Given the description of an element on the screen output the (x, y) to click on. 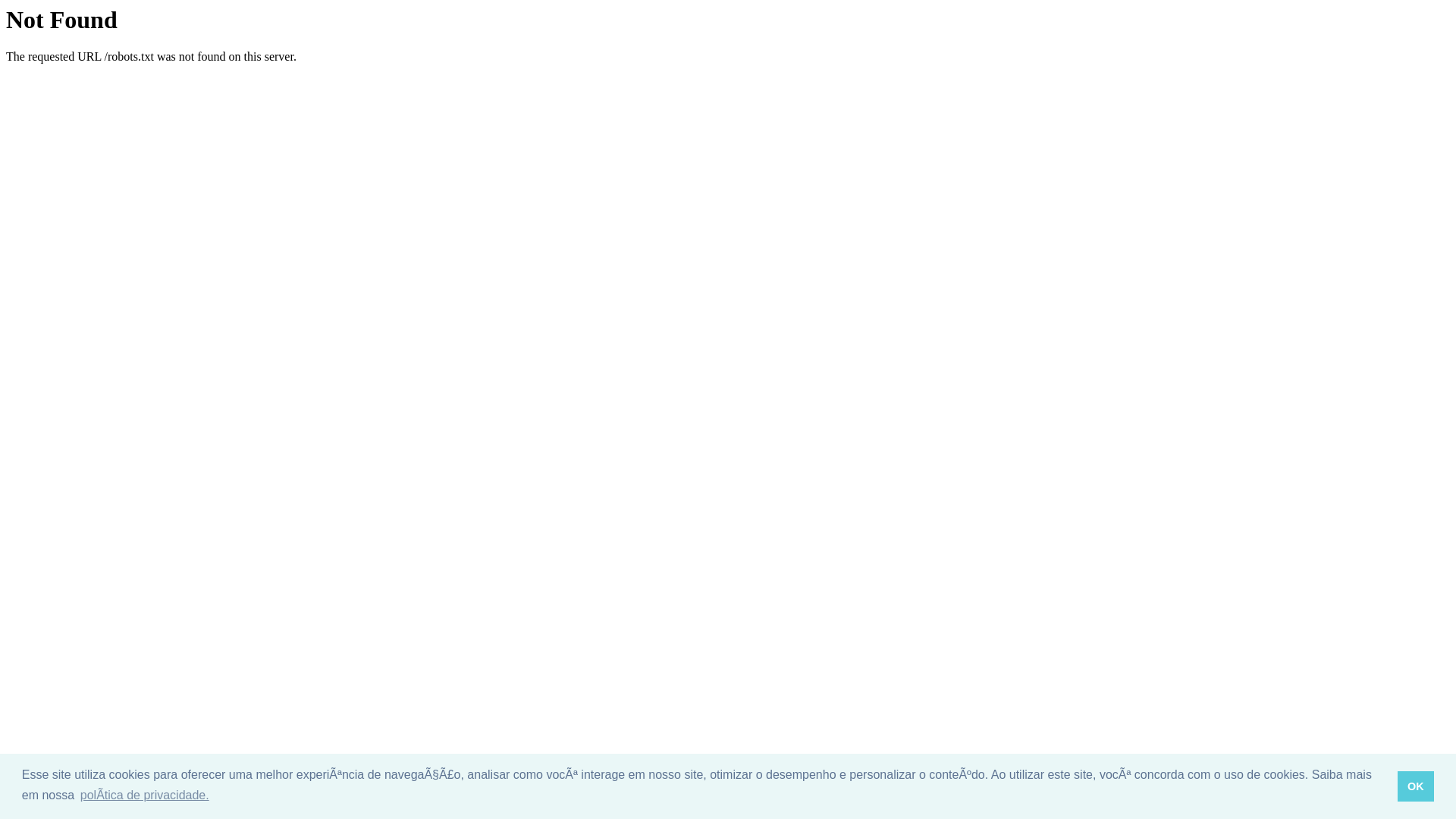
OK Element type: text (1415, 786)
